Given the description of an element on the screen output the (x, y) to click on. 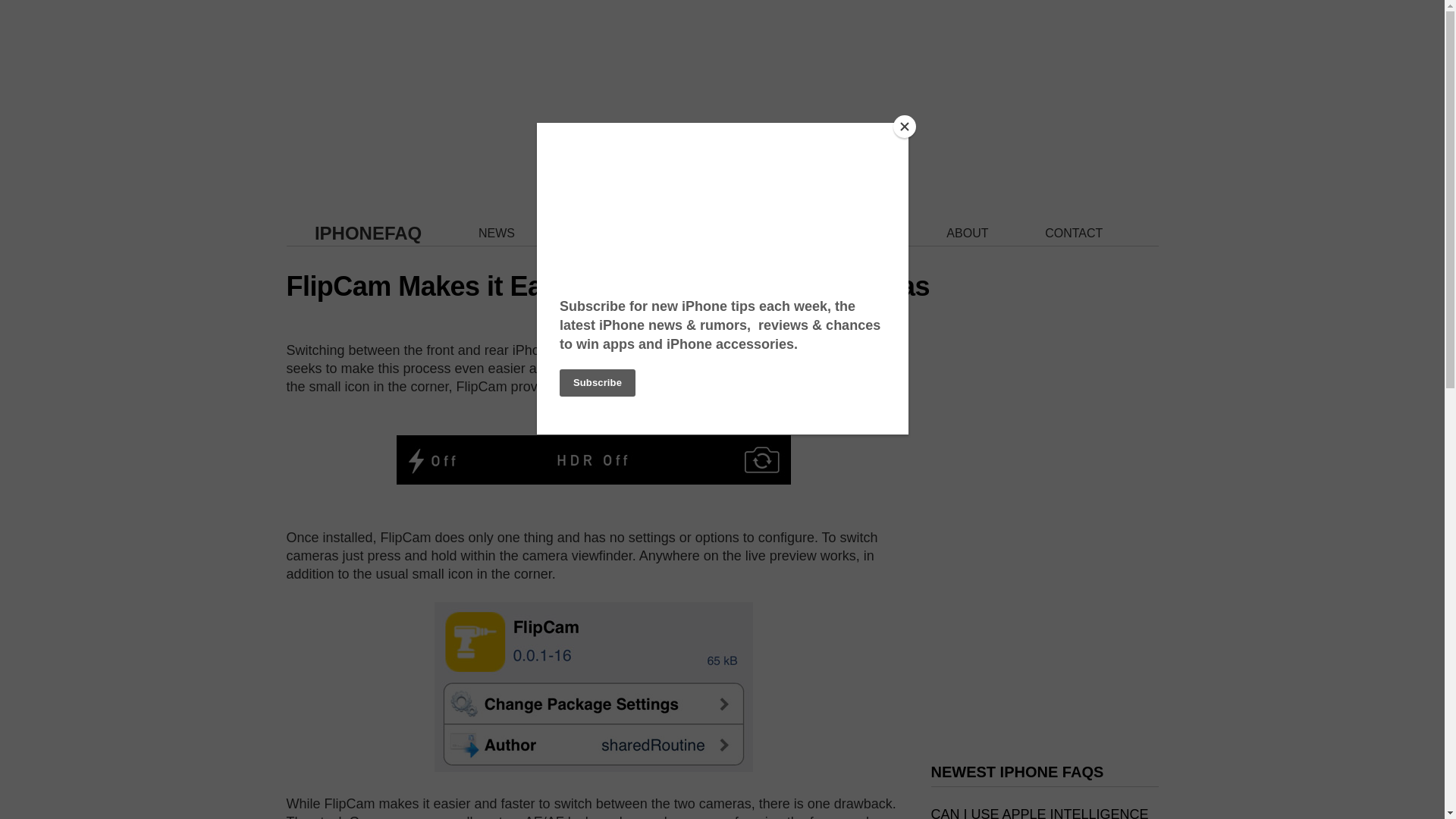
Search all our iPhone and iOS articles and FAQs. (864, 232)
NEWS (497, 232)
SEARCH (864, 232)
The latest iPhone and iOS related news. (497, 232)
GUIDES (675, 232)
CAN I USE APPLE INTELLIGENCE ON MY IPHONE? (1039, 812)
ABOUT (967, 232)
FAQ (583, 232)
Contact us with your questions or comments. (1073, 232)
CONTACT (1073, 232)
cydia tweak FlipCam2 (593, 460)
homepage (368, 232)
IPHONEFAQ (368, 232)
TIPS (769, 232)
